Given the description of an element on the screen output the (x, y) to click on. 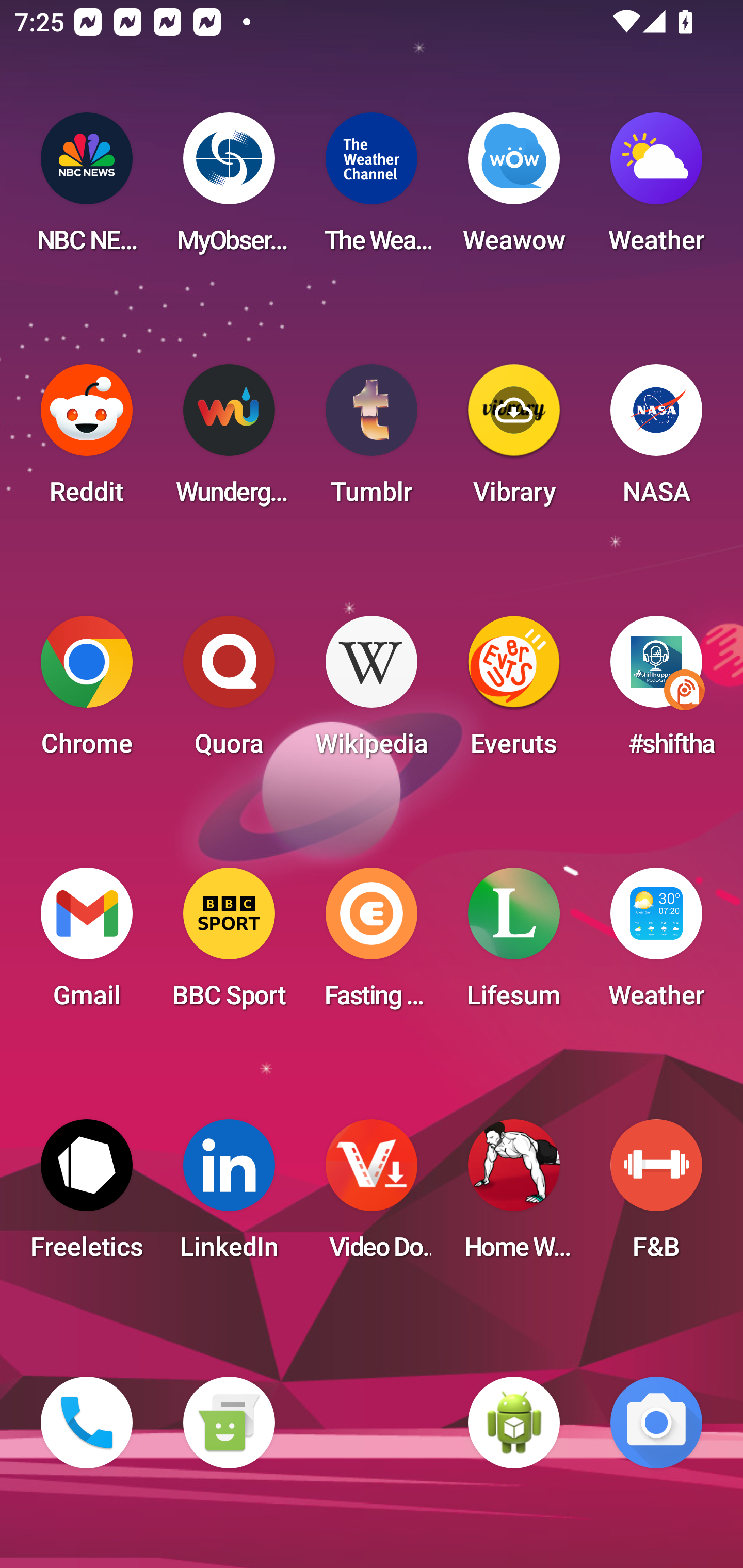
NBC NEWS (86, 188)
MyObservatory (228, 188)
The Weather Channel (371, 188)
Weawow (513, 188)
Weather (656, 188)
Reddit (86, 440)
Wunderground (228, 440)
Tumblr (371, 440)
Vibrary (513, 440)
NASA (656, 440)
Chrome (86, 692)
Quora (228, 692)
Wikipedia (371, 692)
Everuts (513, 692)
#shifthappens in the Digital Workplace Podcast (656, 692)
Gmail (86, 943)
BBC Sport (228, 943)
Fasting Coach (371, 943)
Lifesum (513, 943)
Weather (656, 943)
Freeletics (86, 1195)
LinkedIn (228, 1195)
Video Downloader & Ace Player (371, 1195)
Home Workout (513, 1195)
F&B (656, 1195)
Phone (86, 1422)
Messaging (228, 1422)
WebView Browser Tester (513, 1422)
Camera (656, 1422)
